Given the description of an element on the screen output the (x, y) to click on. 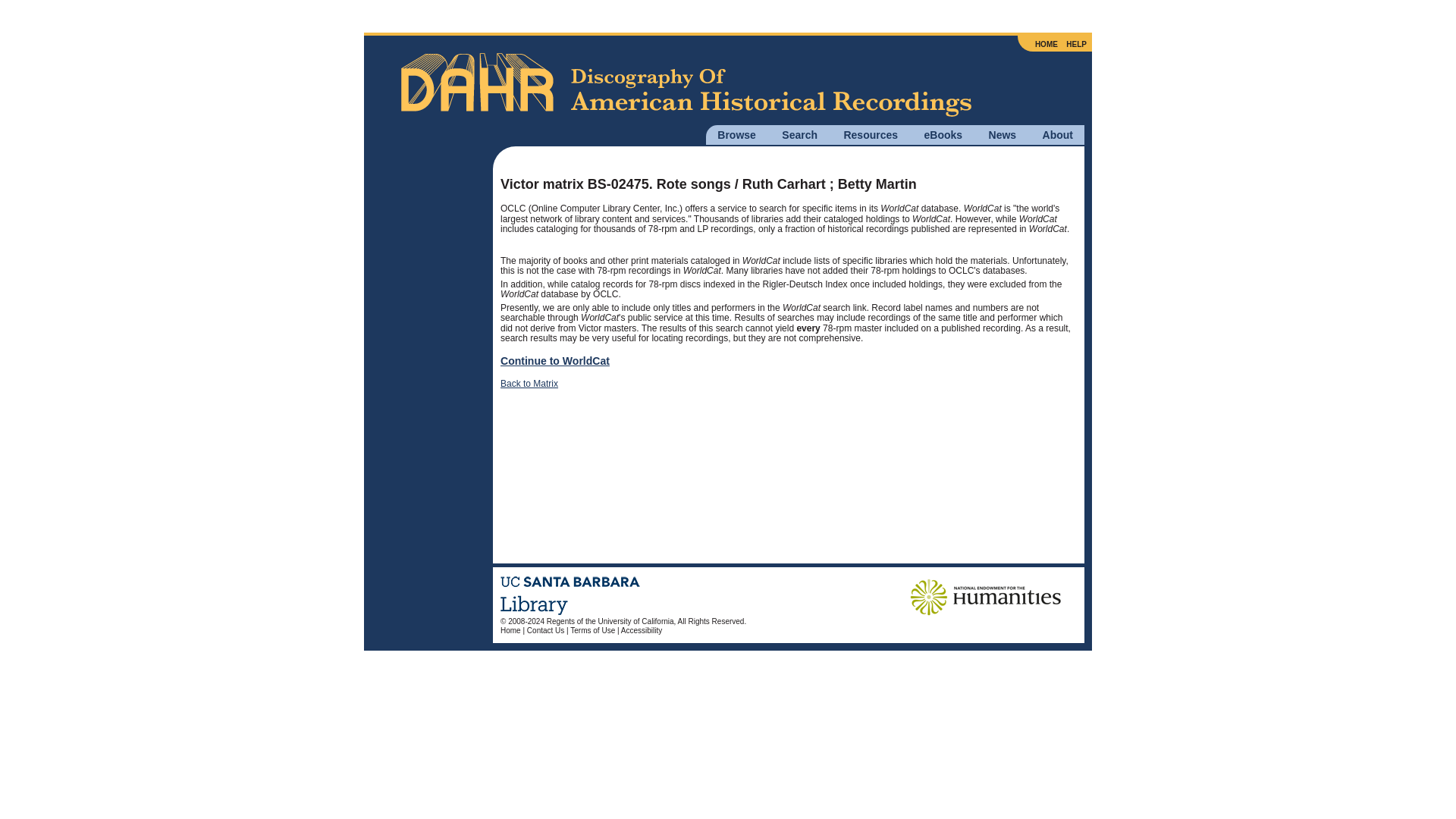
Home (510, 630)
Browse (736, 134)
Terms of Use (592, 630)
Contact Us (545, 630)
HELP (1075, 44)
eBooks (942, 134)
Resources (870, 134)
Continue to WorldCat (555, 360)
News (1002, 134)
Search (798, 134)
Back to Matrix (528, 383)
About (1057, 134)
Accessibility (641, 630)
HOME (1046, 44)
